Given the description of an element on the screen output the (x, y) to click on. 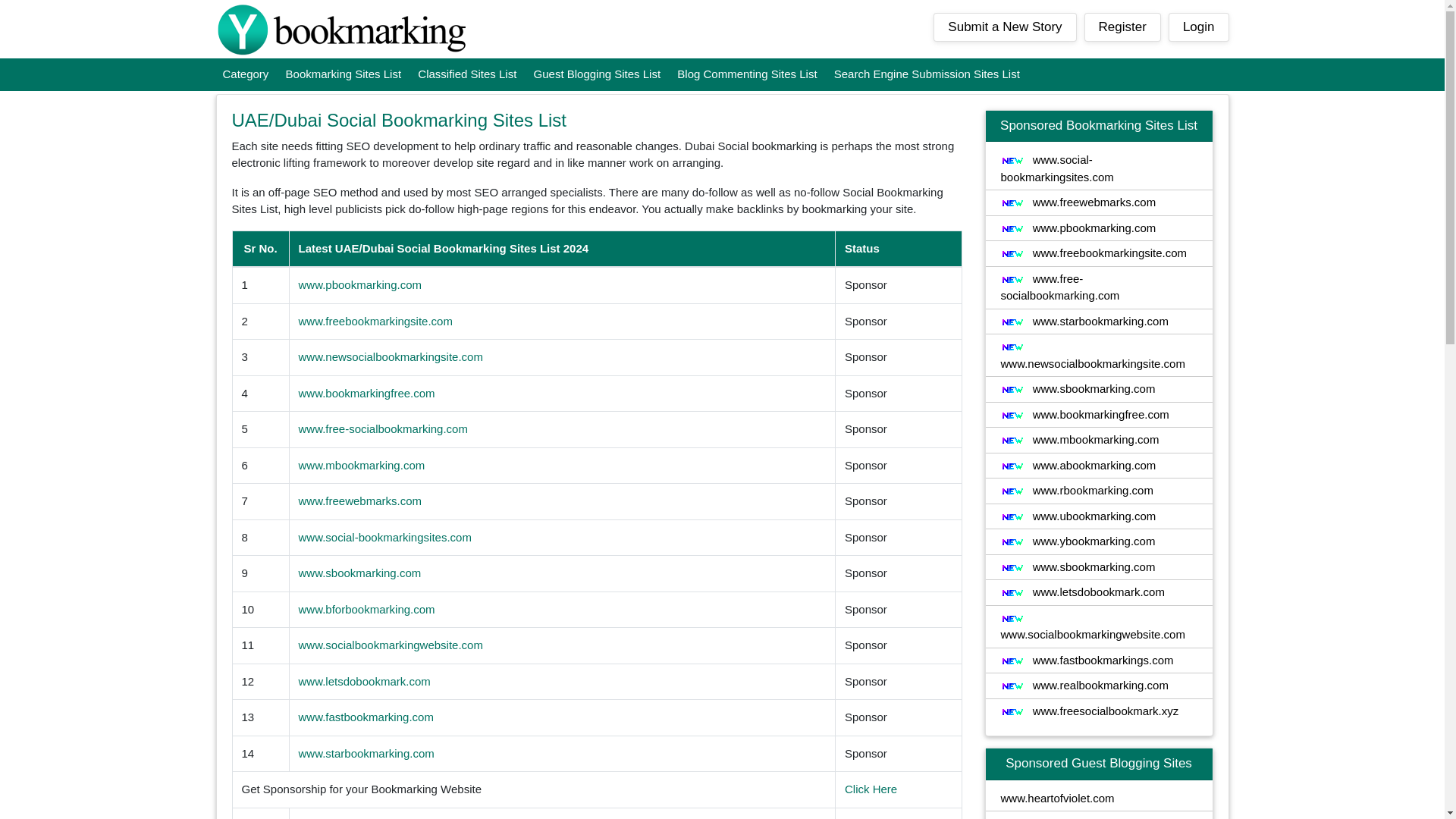
Classified Sites List (466, 74)
Star Bookmarking (341, 29)
Category (245, 74)
New Social Bookmarking Site (1012, 228)
Blog Commenting Sites List (746, 74)
New Social Bookmarking Site (1012, 439)
Login Here (1198, 27)
New Social Bookmarking Site (1012, 491)
Bookmarking Sites List (344, 74)
Login (1198, 27)
New Social Bookmarking Site (1012, 253)
Guest Blogging Sites List (597, 74)
New Social Bookmarking Site (1012, 516)
New Social Bookmarking Site (1012, 389)
New Social Bookmarking Site (1012, 321)
